Given the description of an element on the screen output the (x, y) to click on. 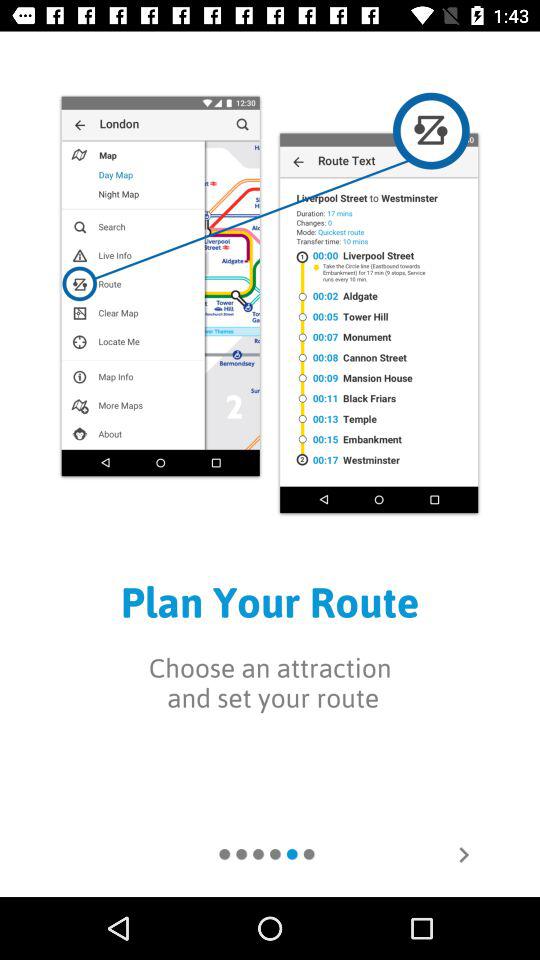
turn on icon at the bottom right corner (463, 854)
